Given the description of an element on the screen output the (x, y) to click on. 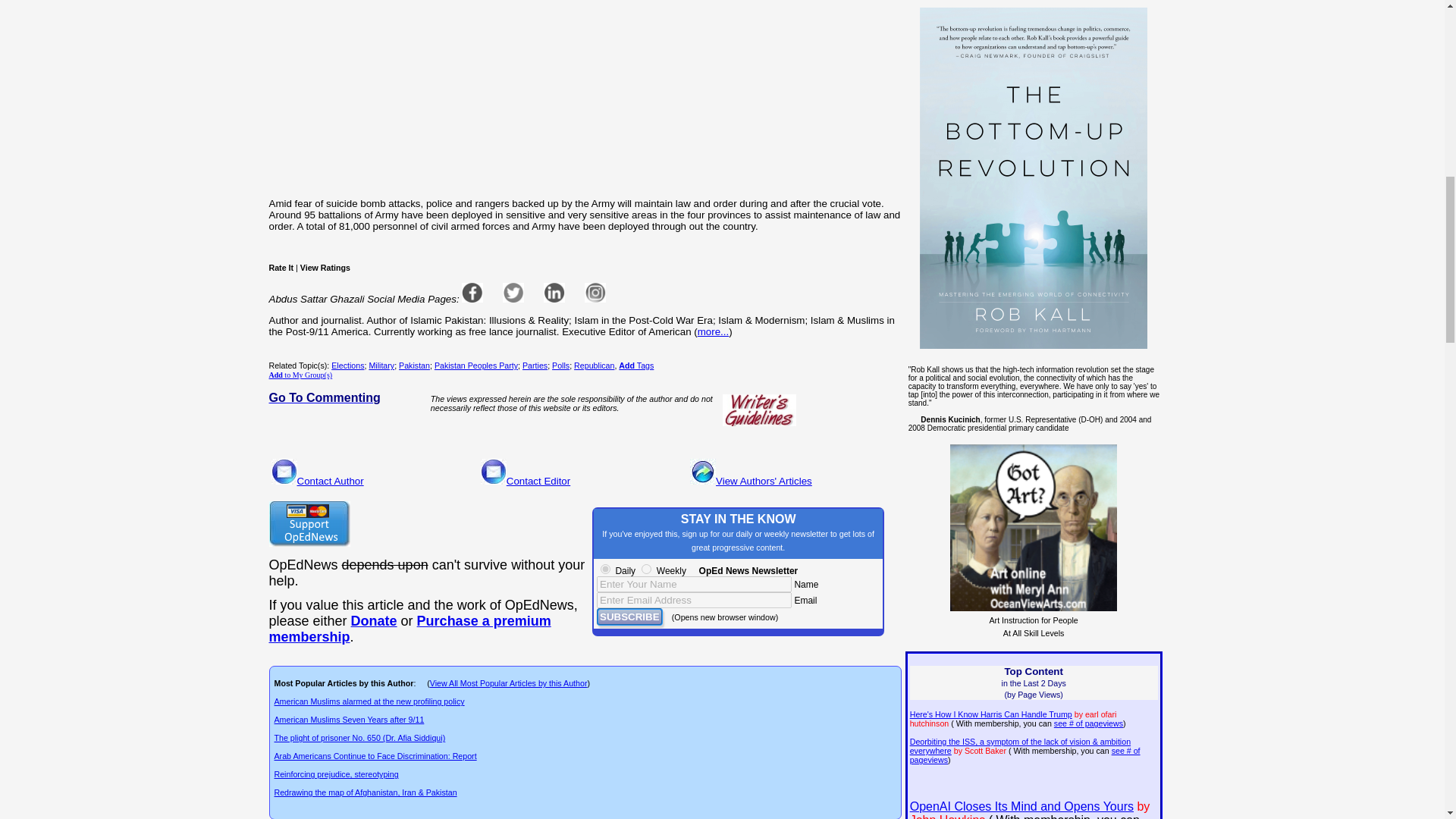
more... (713, 331)
Support OpEdNews (308, 524)
Pakistan (413, 365)
Instagram page url on login Profile not filled in (595, 292)
Republican (593, 365)
Contact Author (330, 480)
Enter Email Address (694, 600)
-- (373, 620)
Parties (534, 365)
Add Tags (635, 365)
Writers Guidelines (759, 409)
Daily (604, 569)
Pakistan Peoples Party (475, 365)
-- (408, 628)
Weekly (646, 569)
